Given the description of an element on the screen output the (x, y) to click on. 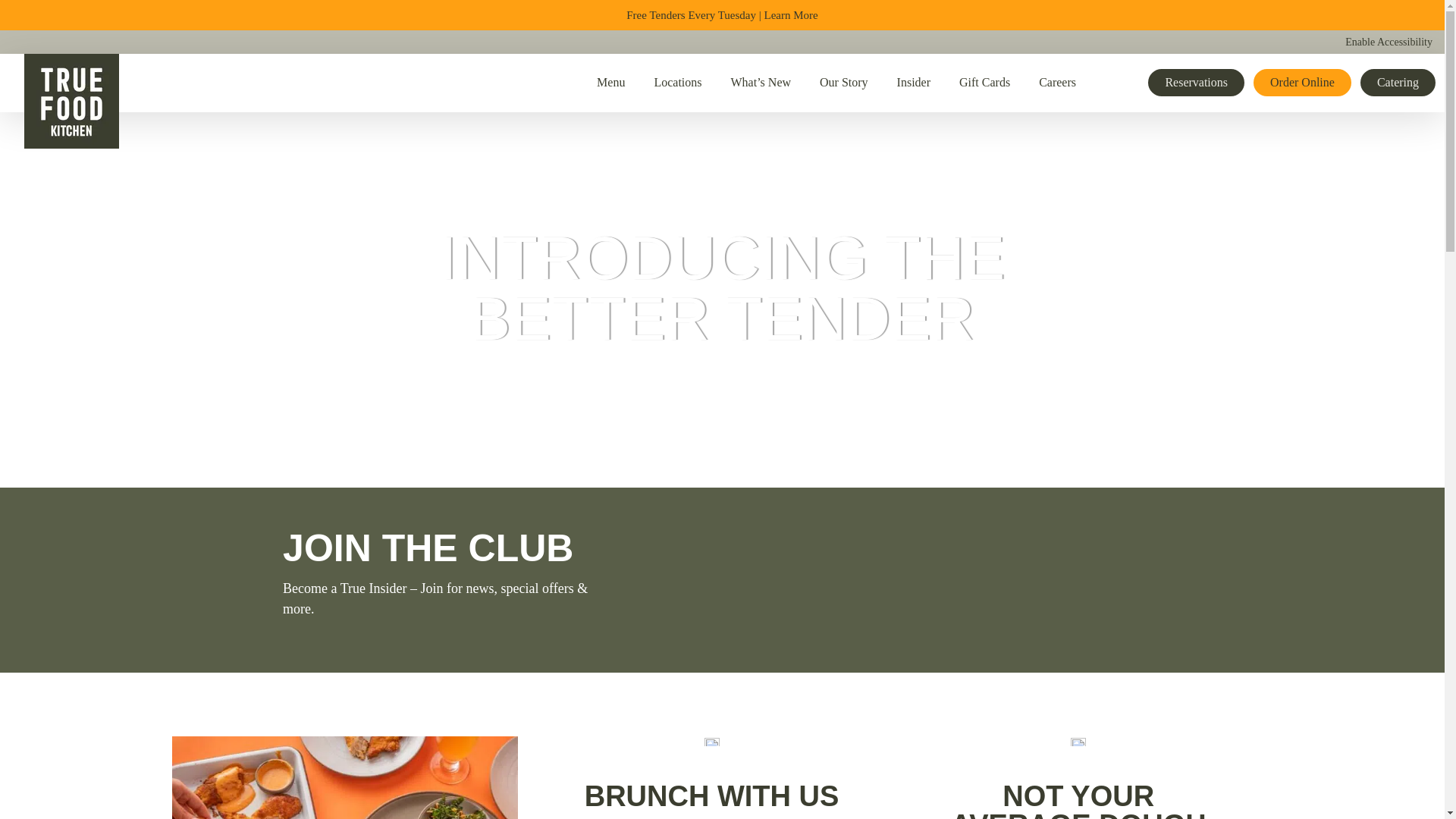
Learn More (791, 15)
Enable Accessibility (1388, 41)
Order Online (1302, 81)
Reservations (1196, 81)
Catering (1397, 81)
